Given the description of an element on the screen output the (x, y) to click on. 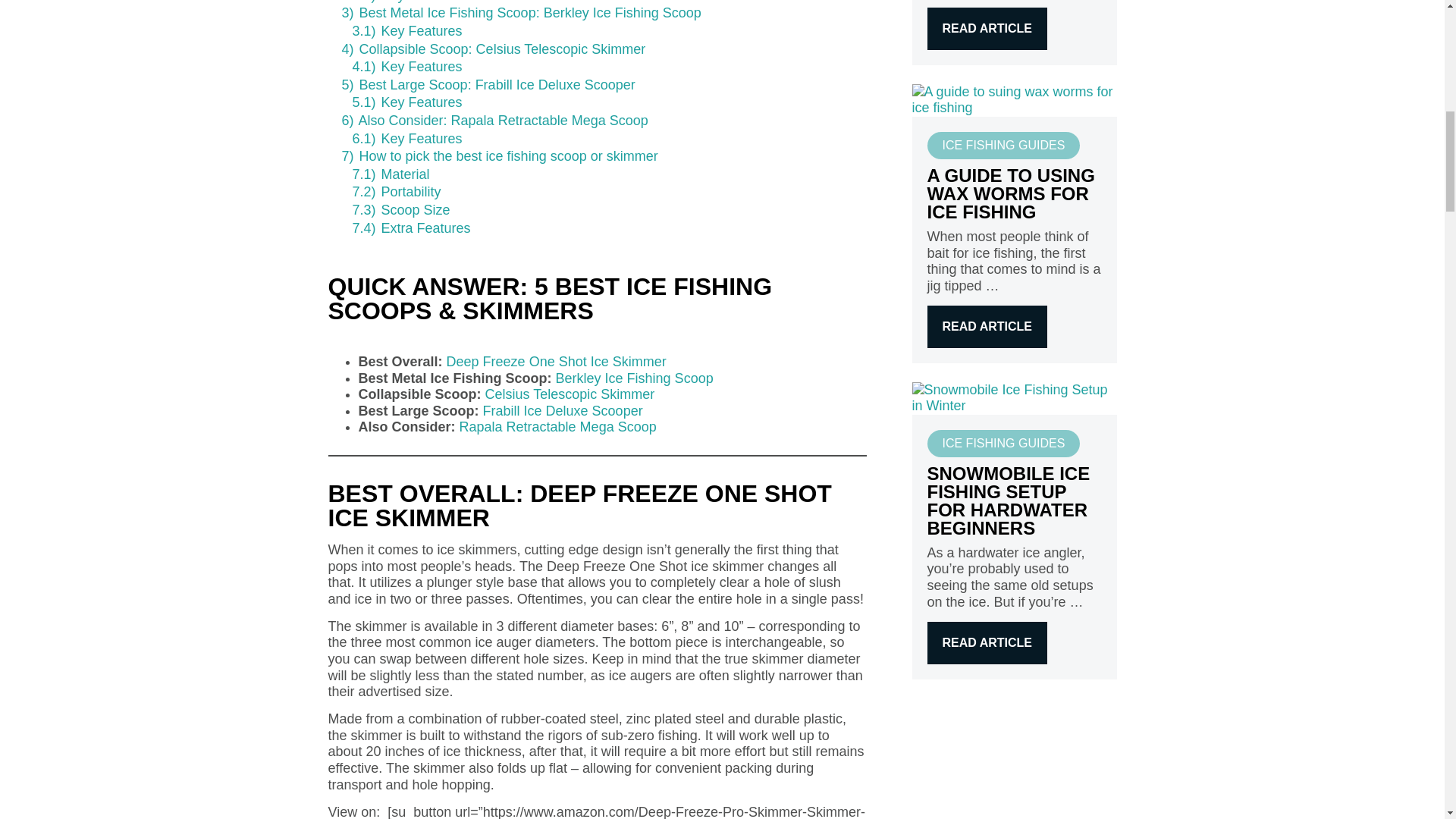
Snowmobile Ice Fishing Setup for Hardwater Beginners (986, 642)
Snowmobile Ice Fishing Setup for Hardwater Beginners (1013, 396)
A Guide to Using Wax Worms for Ice Fishing (986, 326)
A Guide to Using Wax Worms for Ice Fishing (1013, 99)
